Given the description of an element on the screen output the (x, y) to click on. 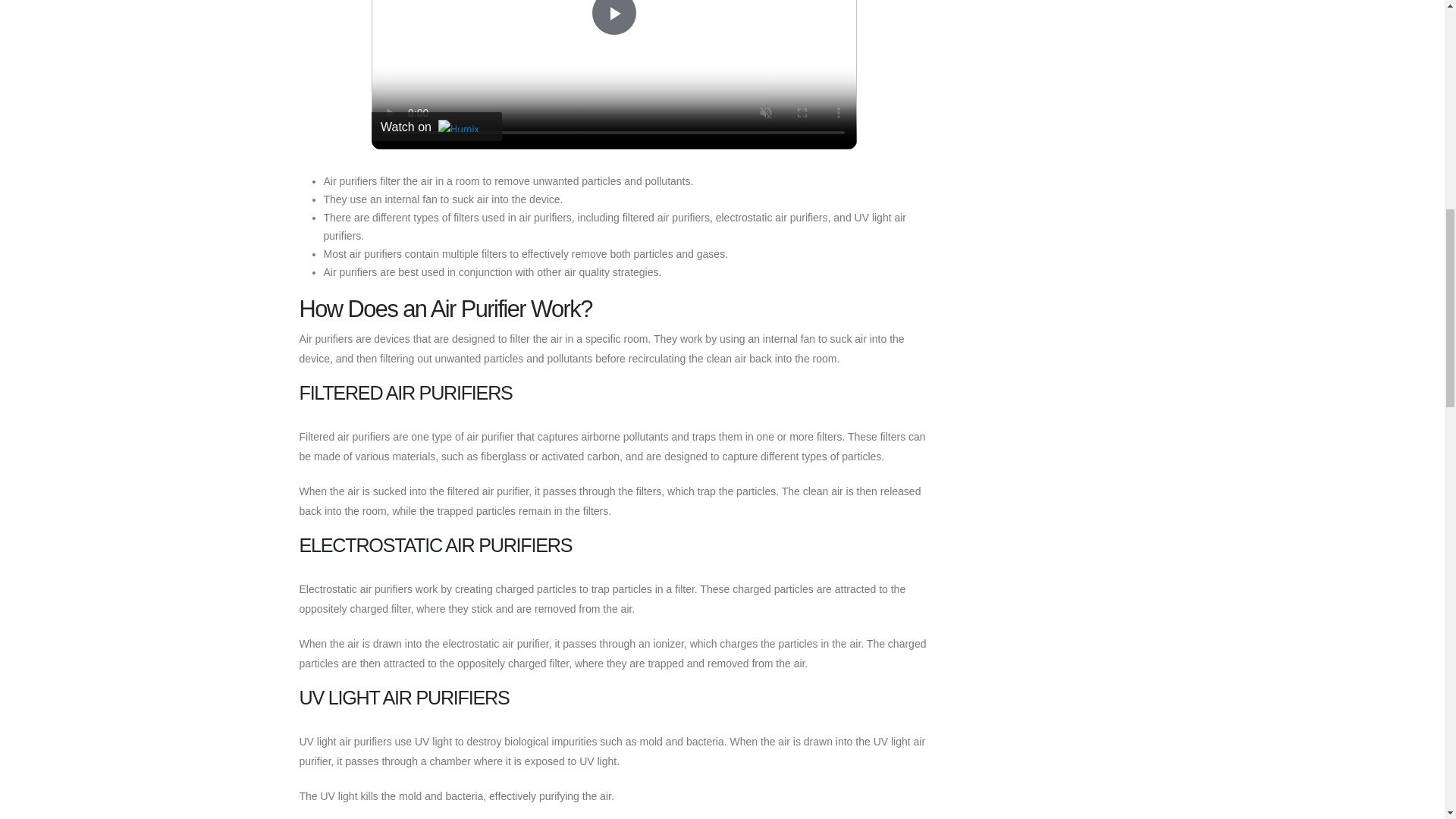
Play Video (614, 18)
Play Video (614, 18)
Watch on (436, 126)
